Given the description of an element on the screen output the (x, y) to click on. 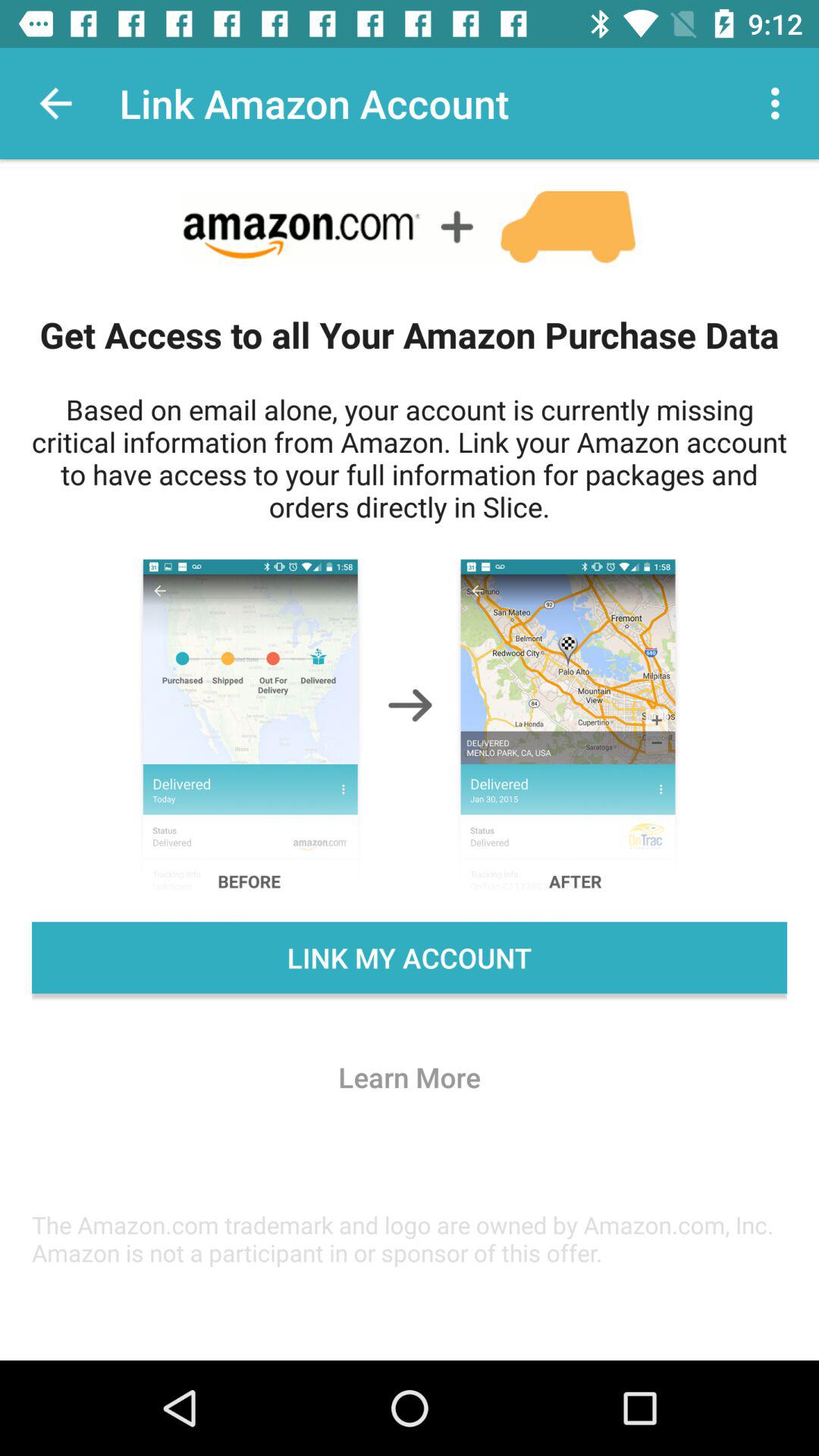
click item above the get access to (55, 103)
